Given the description of an element on the screen output the (x, y) to click on. 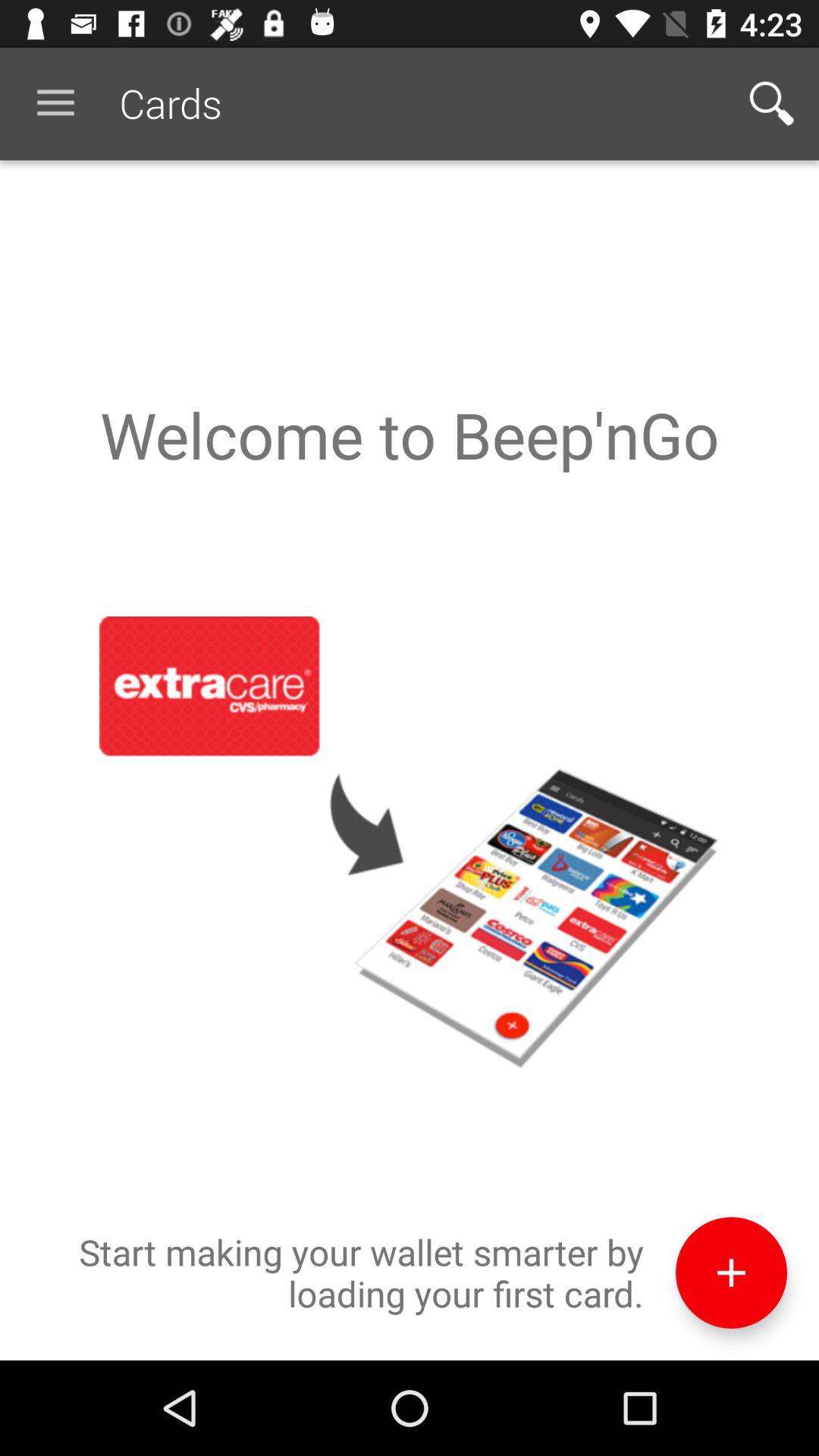
select icon at the bottom right corner (731, 1272)
